Given the description of an element on the screen output the (x, y) to click on. 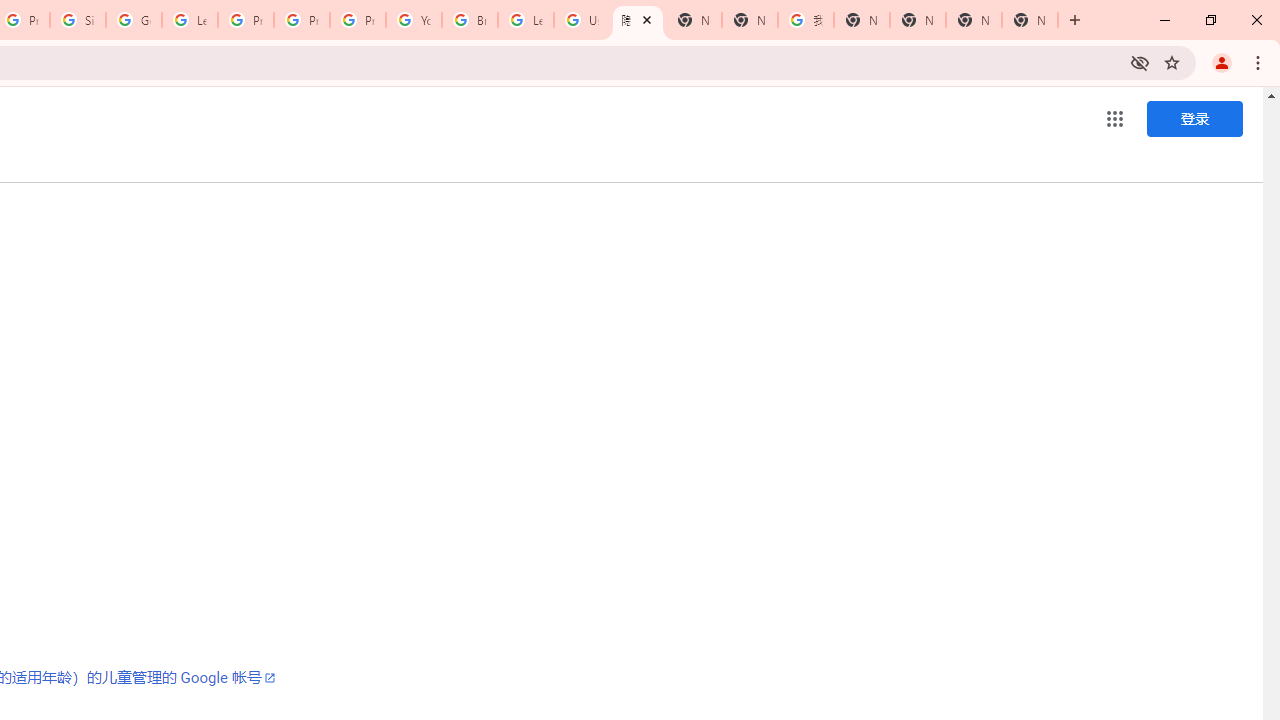
New Tab (693, 20)
Privacy Help Center - Policies Help (245, 20)
